Given the description of an element on the screen output the (x, y) to click on. 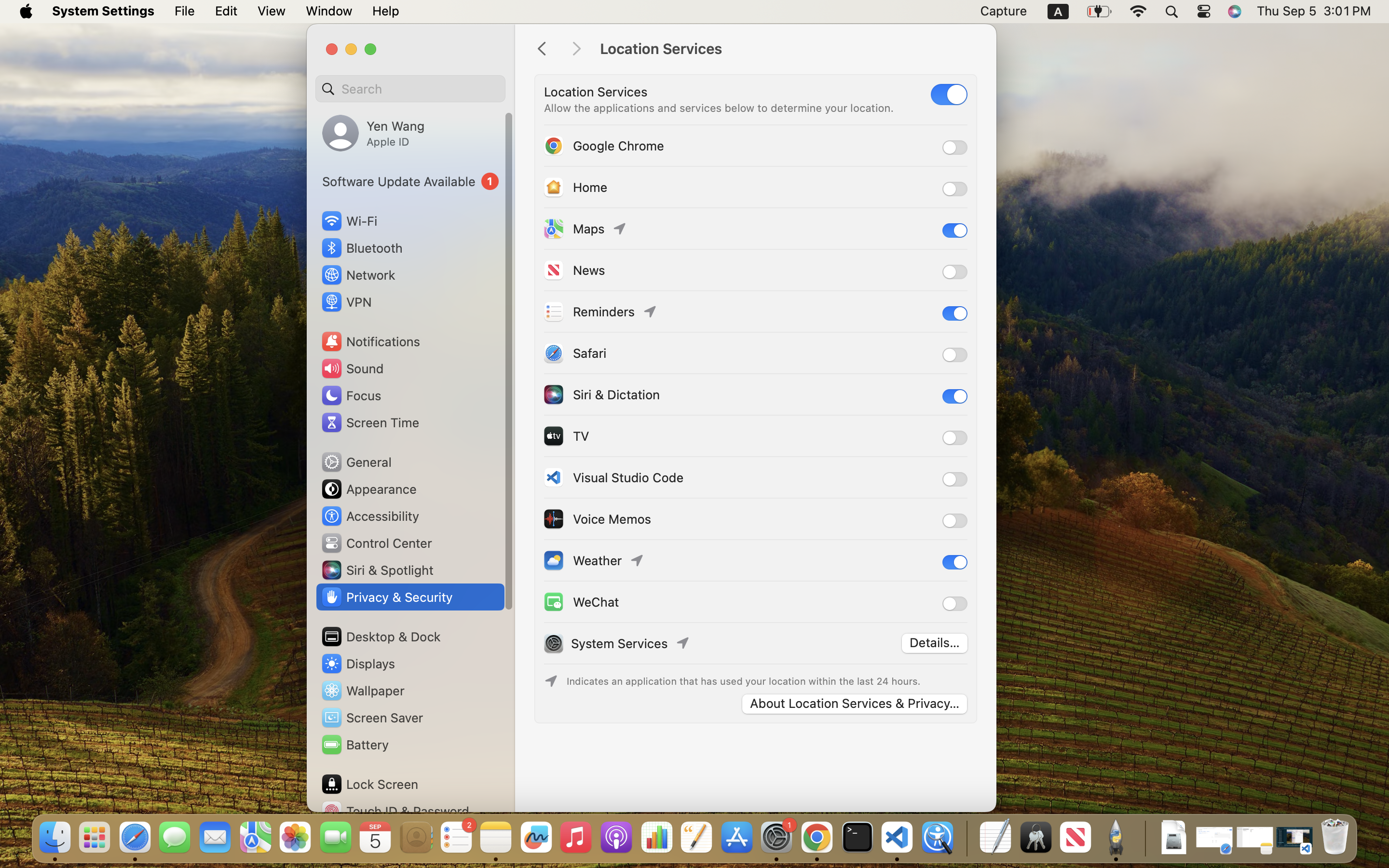
Wi‑Fi Element type: AXStaticText (348, 220)
Desktop & Dock Element type: AXStaticText (380, 636)
General Element type: AXStaticText (355, 461)
Allow the applications and services below to determine your location. Element type: AXStaticText (719, 107)
VPN Element type: AXStaticText (345, 301)
